Given the description of an element on the screen output the (x, y) to click on. 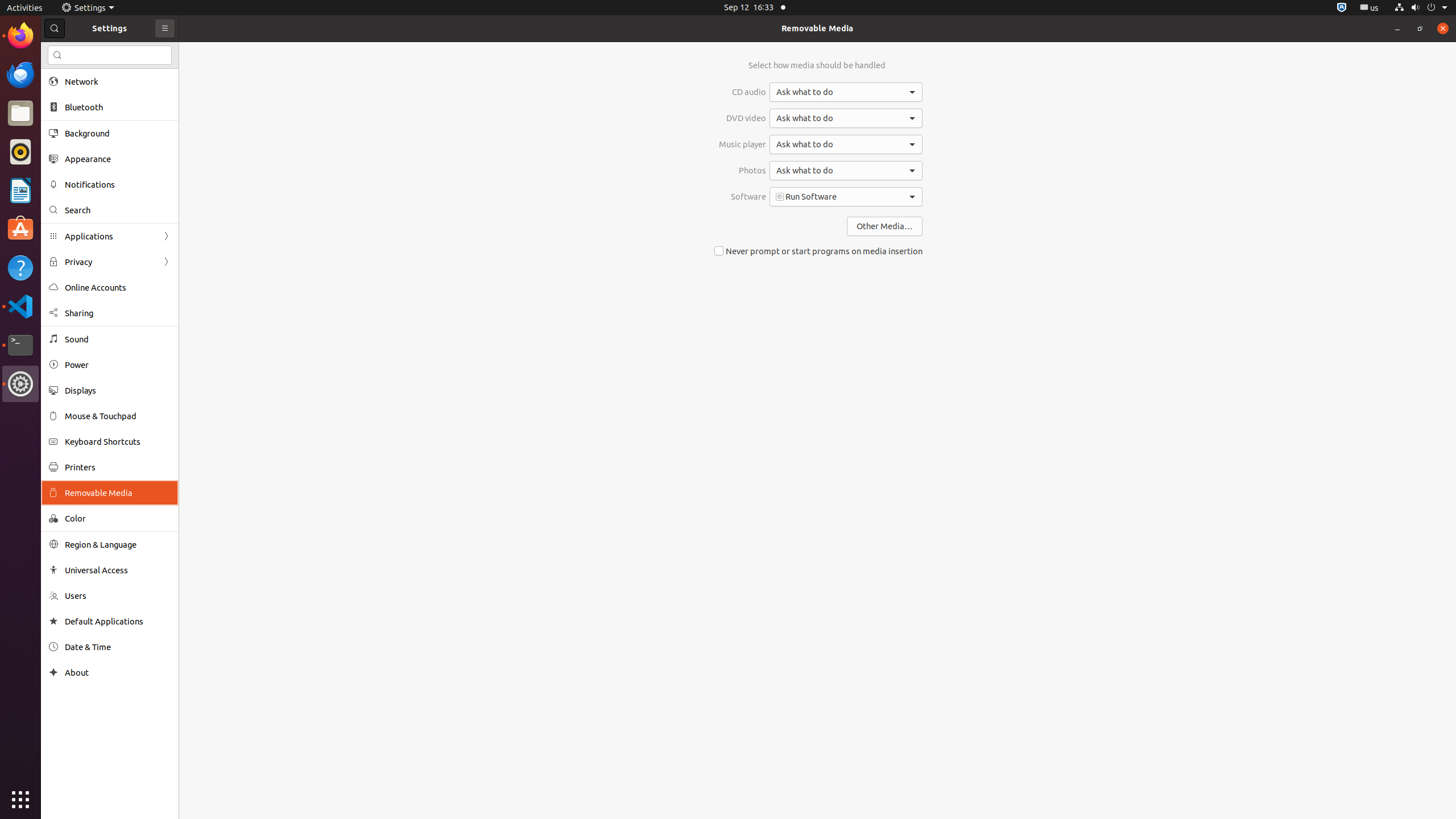
Settings Element type: menu (87, 7)
Activities Element type: label (24, 7)
Settings Element type: push-button (20, 383)
